Given the description of an element on the screen output the (x, y) to click on. 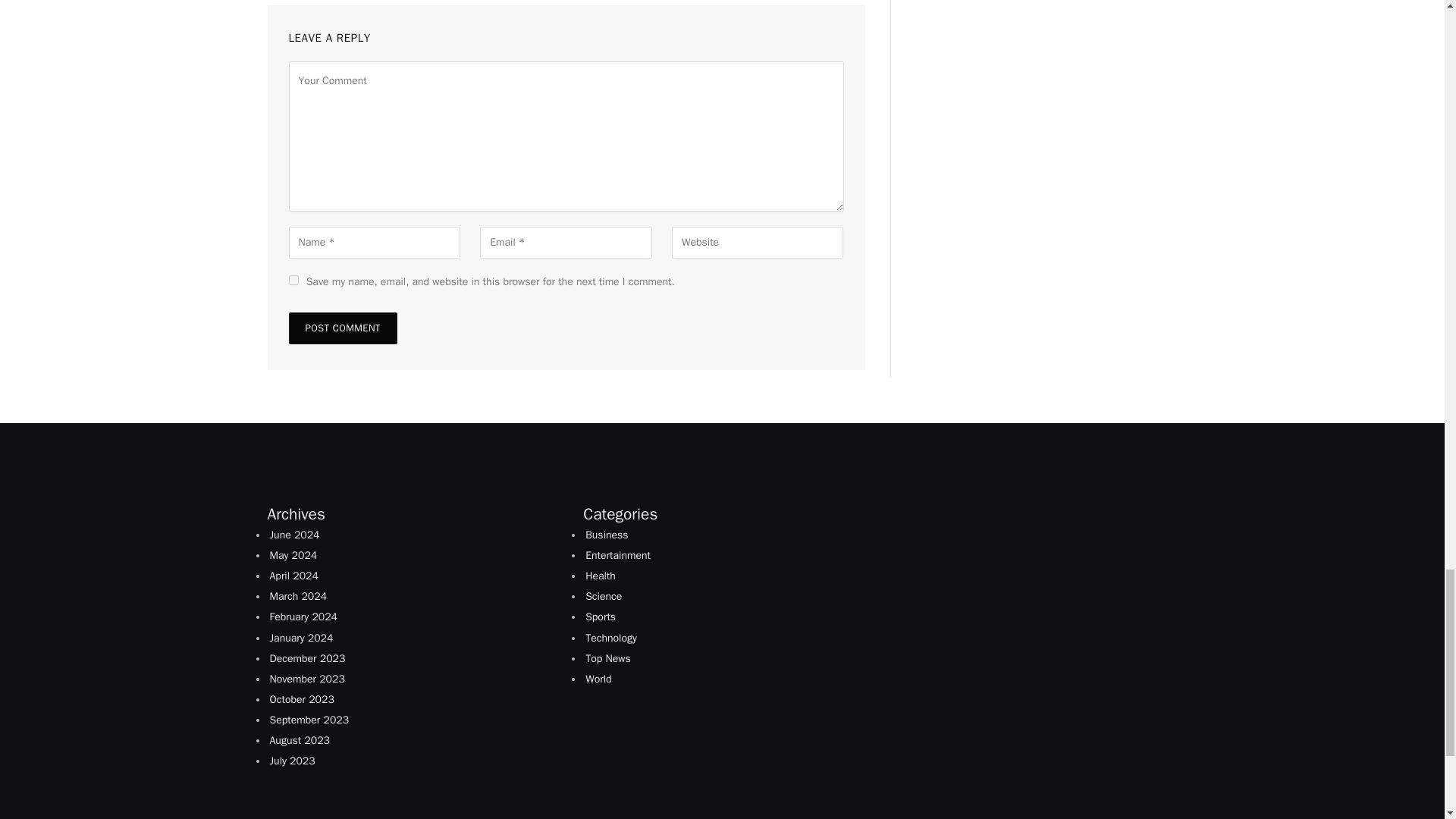
Post Comment (342, 327)
yes (293, 280)
